Given the description of an element on the screen output the (x, y) to click on. 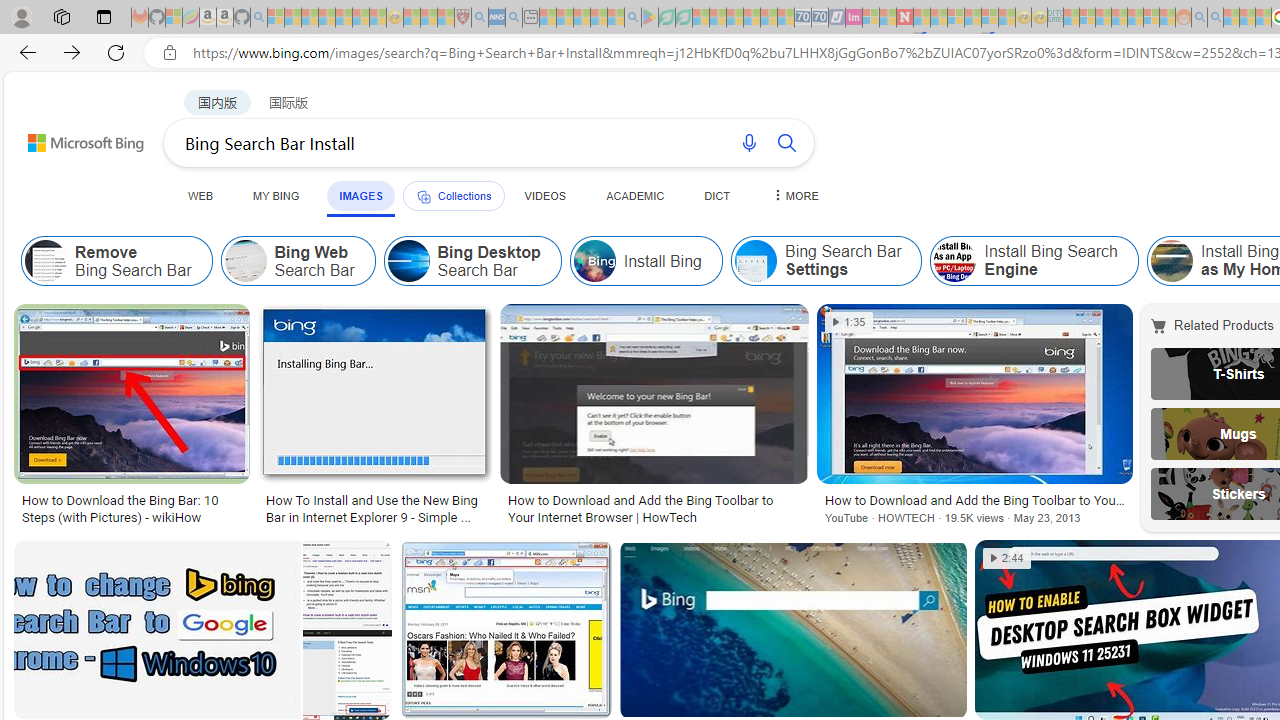
Install Bing (645, 260)
Bing Desktop Search Bar (408, 260)
Bing Search Bar Settings (825, 260)
